Given the description of an element on the screen output the (x, y) to click on. 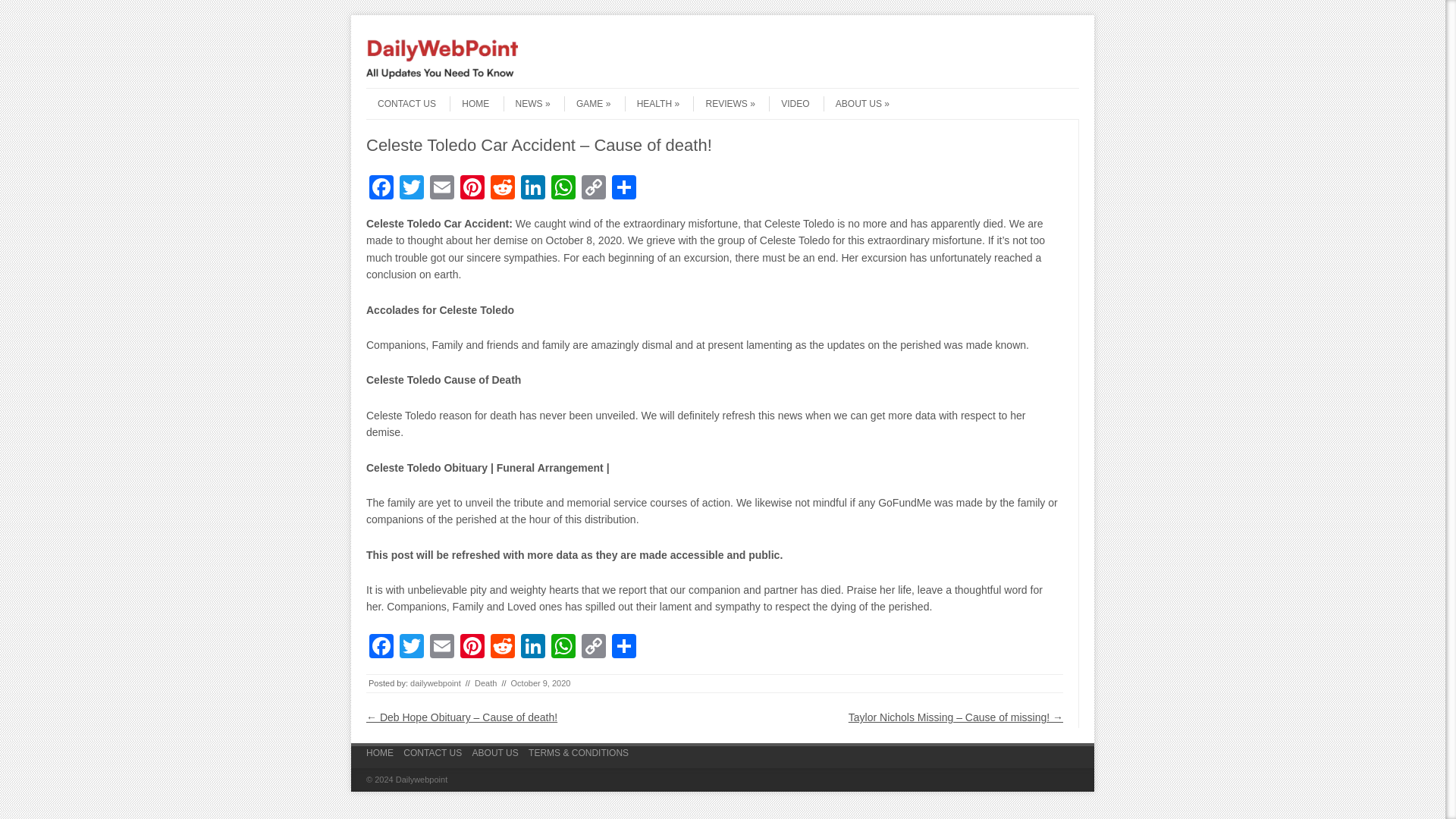
Email (441, 189)
WhatsApp (563, 189)
Skip to content (396, 92)
Dailywebpoint (442, 74)
Twitter (411, 647)
LinkedIn (533, 647)
VIDEO (788, 103)
Twitter (411, 647)
GAME (587, 103)
HEALTH (651, 103)
LinkedIn (533, 189)
Pinterest (472, 647)
Reddit (502, 647)
Reddit (502, 189)
NEWS (526, 103)
